Given the description of an element on the screen output the (x, y) to click on. 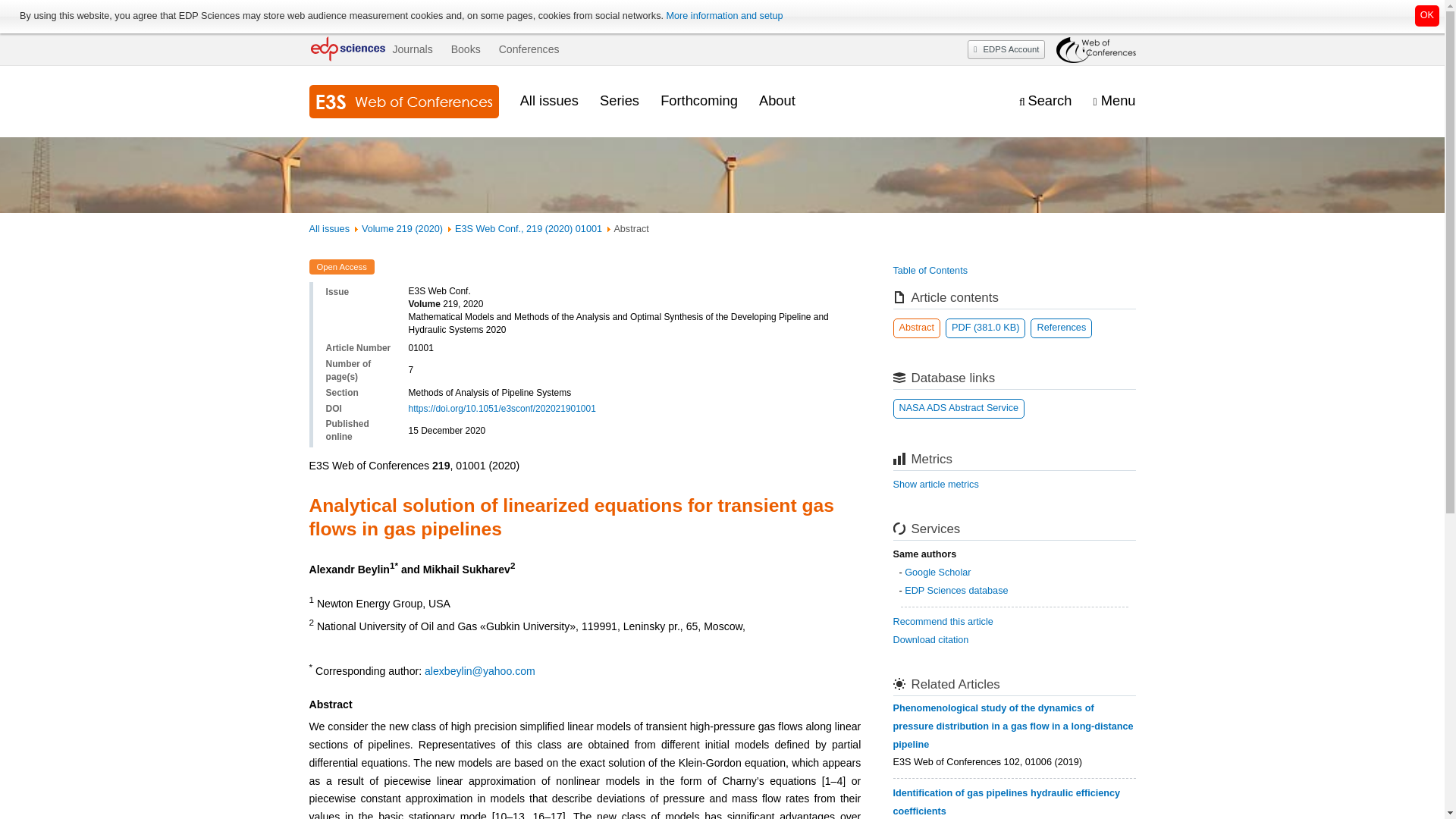
Books (465, 49)
More information and setup (724, 15)
OK (1427, 15)
Display the search engine (1045, 101)
Conferences (529, 49)
Journal homepage (403, 101)
Click to close this notification (1427, 15)
Journals (411, 49)
Abstract (916, 328)
